Given the description of an element on the screen output the (x, y) to click on. 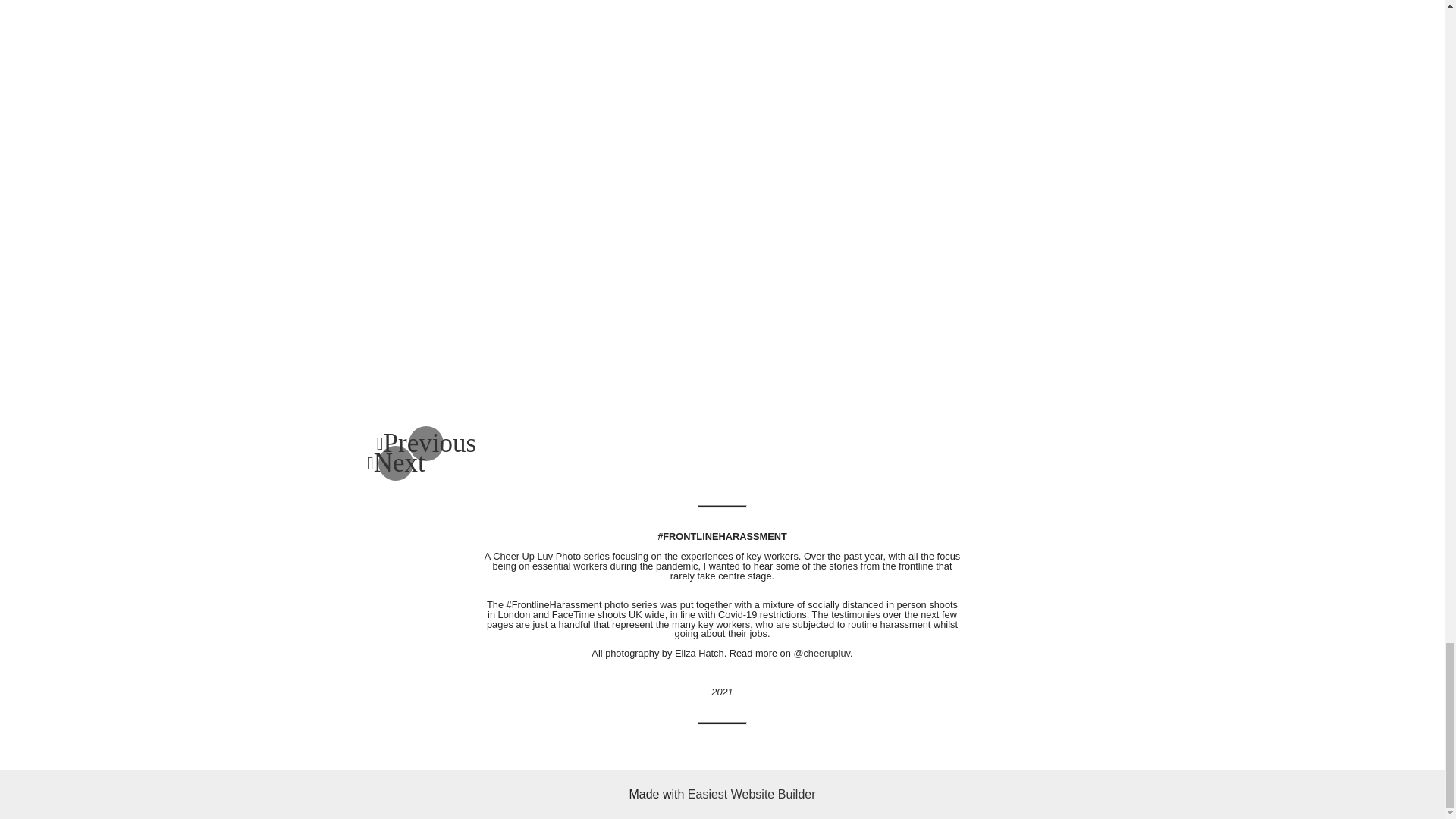
Previous (426, 443)
Next (395, 463)
Easiest Website Builder (751, 794)
